Given the description of an element on the screen output the (x, y) to click on. 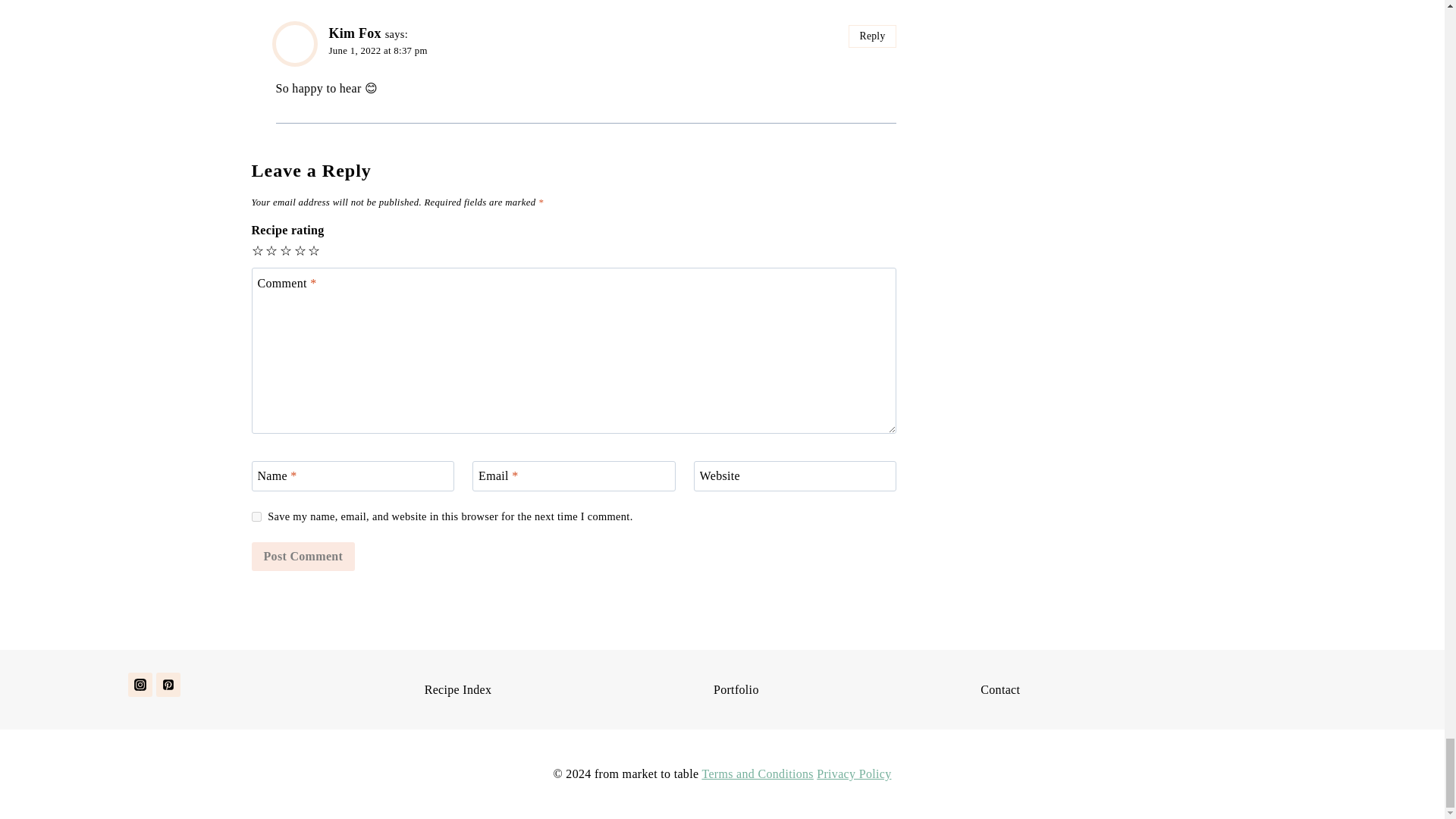
June 1, 2022 at 8:37 pm (378, 50)
yes (256, 516)
Reply (872, 35)
Kim Fox (355, 32)
Post Comment (303, 556)
